Given the description of an element on the screen output the (x, y) to click on. 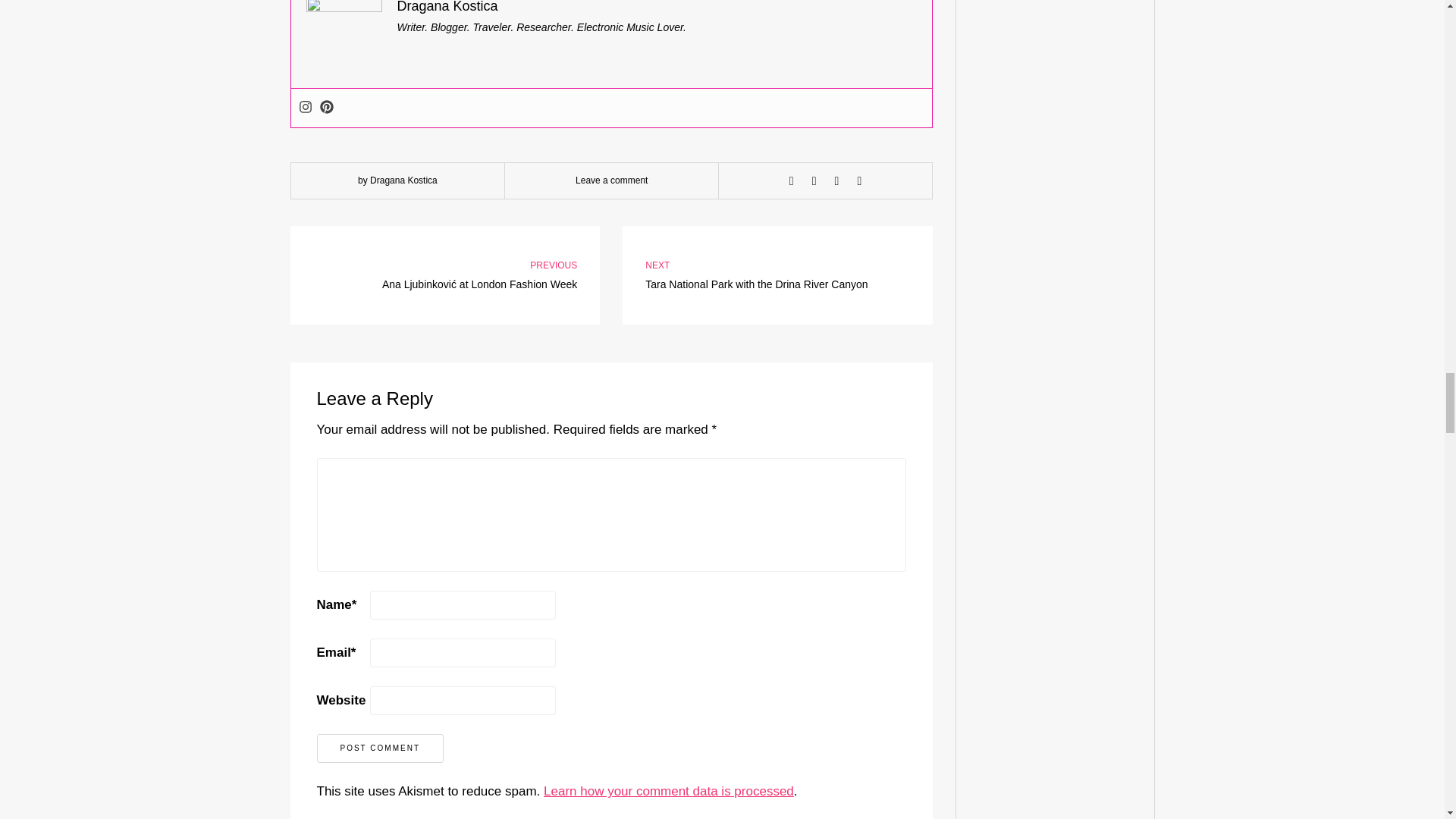
Share with Google Plus (837, 181)
Share this (791, 181)
Tweet this (814, 181)
Dragana Kostica (447, 6)
Post comment (380, 747)
Pin this (858, 181)
